Given the description of an element on the screen output the (x, y) to click on. 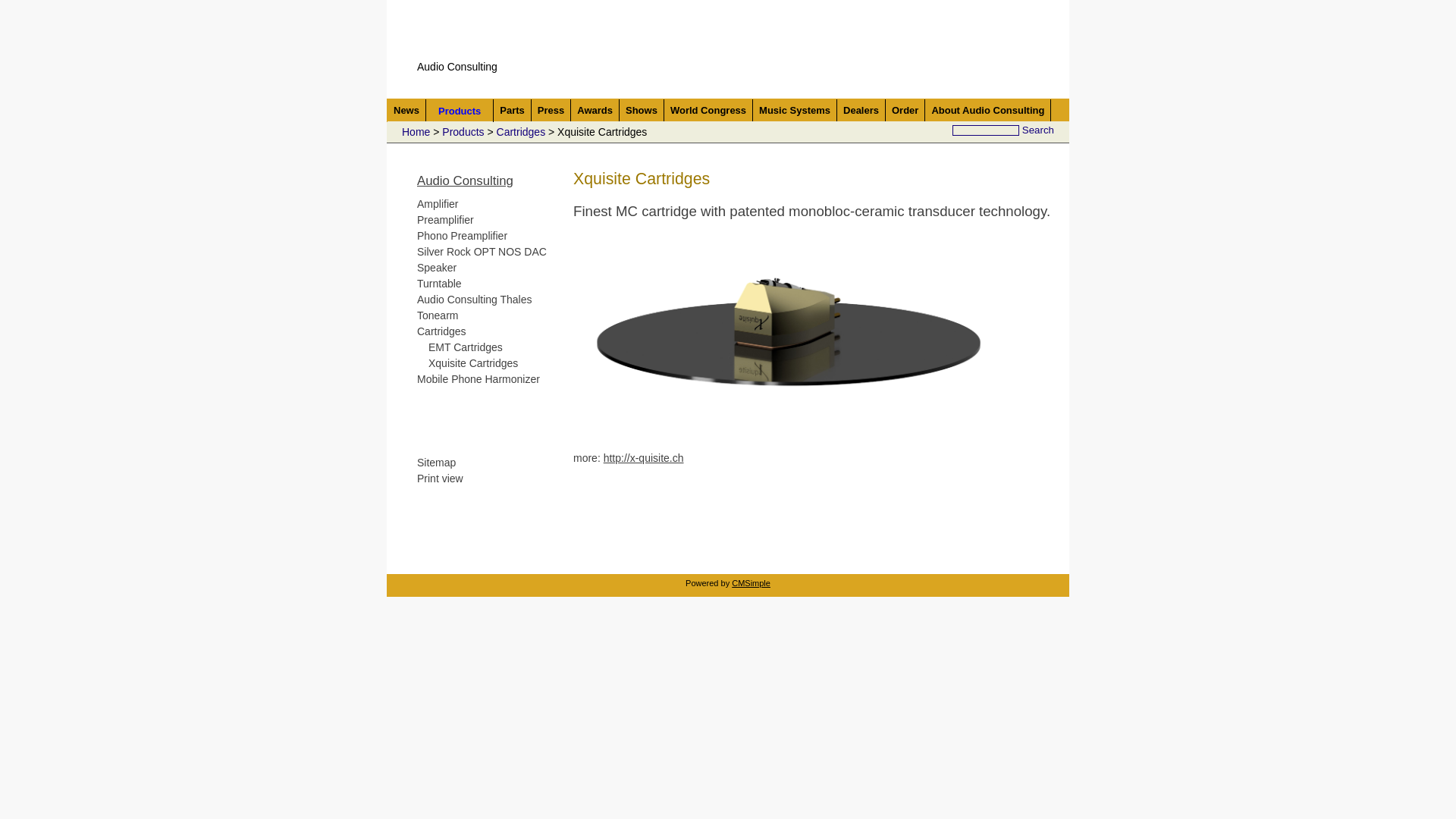
EMT Cartridges Element type: text (465, 347)
Shows Element type: text (641, 110)
Products Element type: text (462, 131)
http://x-quisite.ch Element type: text (643, 457)
Order Element type: text (904, 110)
Amplifier Element type: text (437, 203)
Parts Element type: text (511, 110)
CMSimple Element type: text (750, 580)
About Audio Consulting Element type: text (987, 110)
News Element type: text (406, 110)
Audio Consulting Thales Tonearm Element type: text (474, 307)
Turntable Element type: text (439, 283)
Home Element type: text (415, 131)
Products Element type: text (459, 111)
Mobile Phone Harmonizer Element type: text (478, 379)
Cartridges Element type: text (441, 331)
Phono Preamplifier Element type: text (462, 235)
Press Element type: text (550, 110)
Preamplifier Element type: text (445, 219)
Dealers Element type: text (860, 110)
Music Systems Element type: text (794, 110)
Silver Rock OPT NOS DAC Element type: text (481, 251)
Cartridges Element type: text (521, 131)
Xquisite Cartrige Element type: hover (788, 324)
Sitemap Element type: text (436, 462)
Search Element type: text (1038, 129)
Awards Element type: text (594, 110)
Print view Element type: text (440, 478)
World Congress Element type: text (708, 110)
Speaker Element type: text (436, 267)
